Given the description of an element on the screen output the (x, y) to click on. 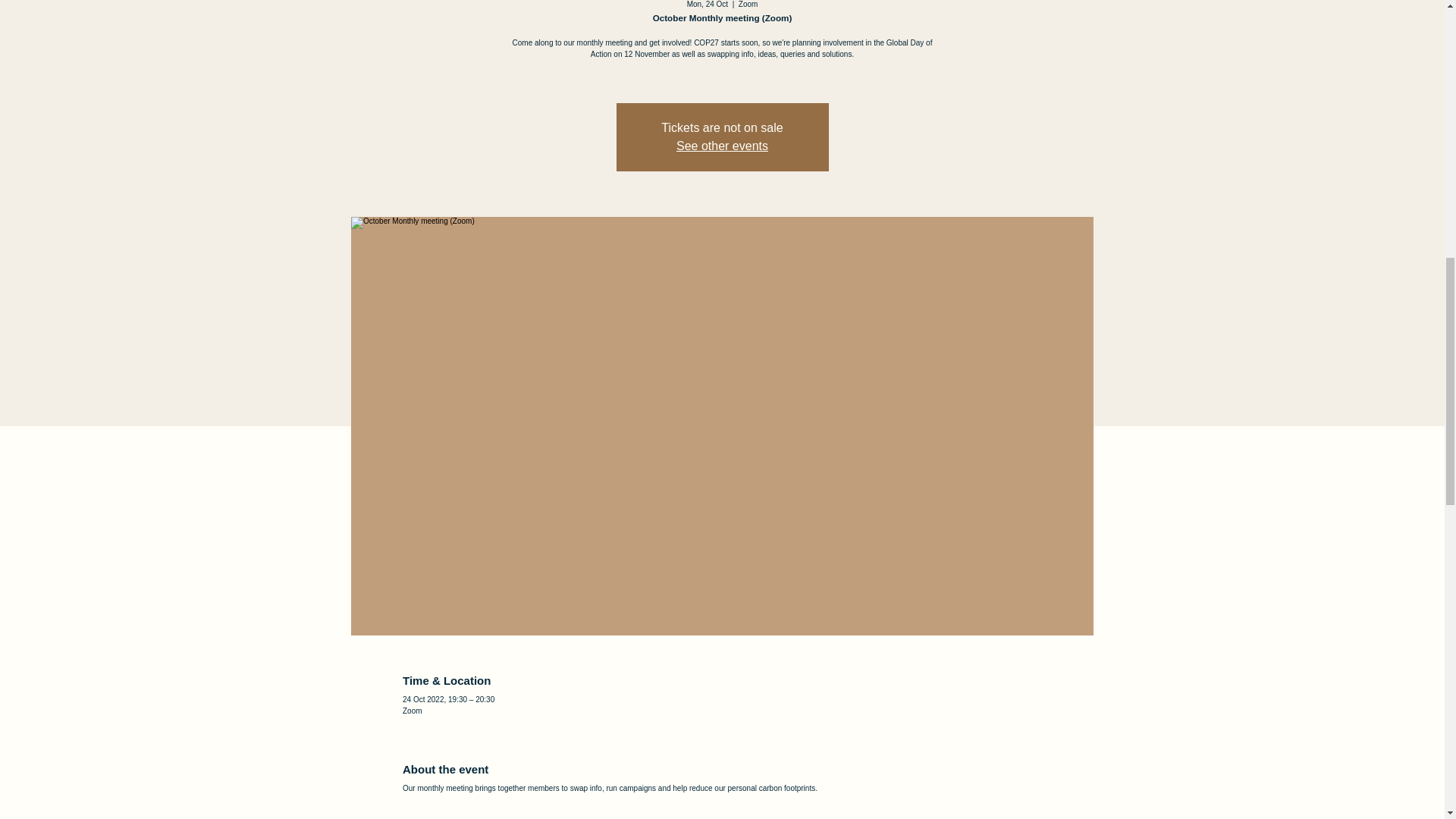
See other events (722, 145)
